Given the description of an element on the screen output the (x, y) to click on. 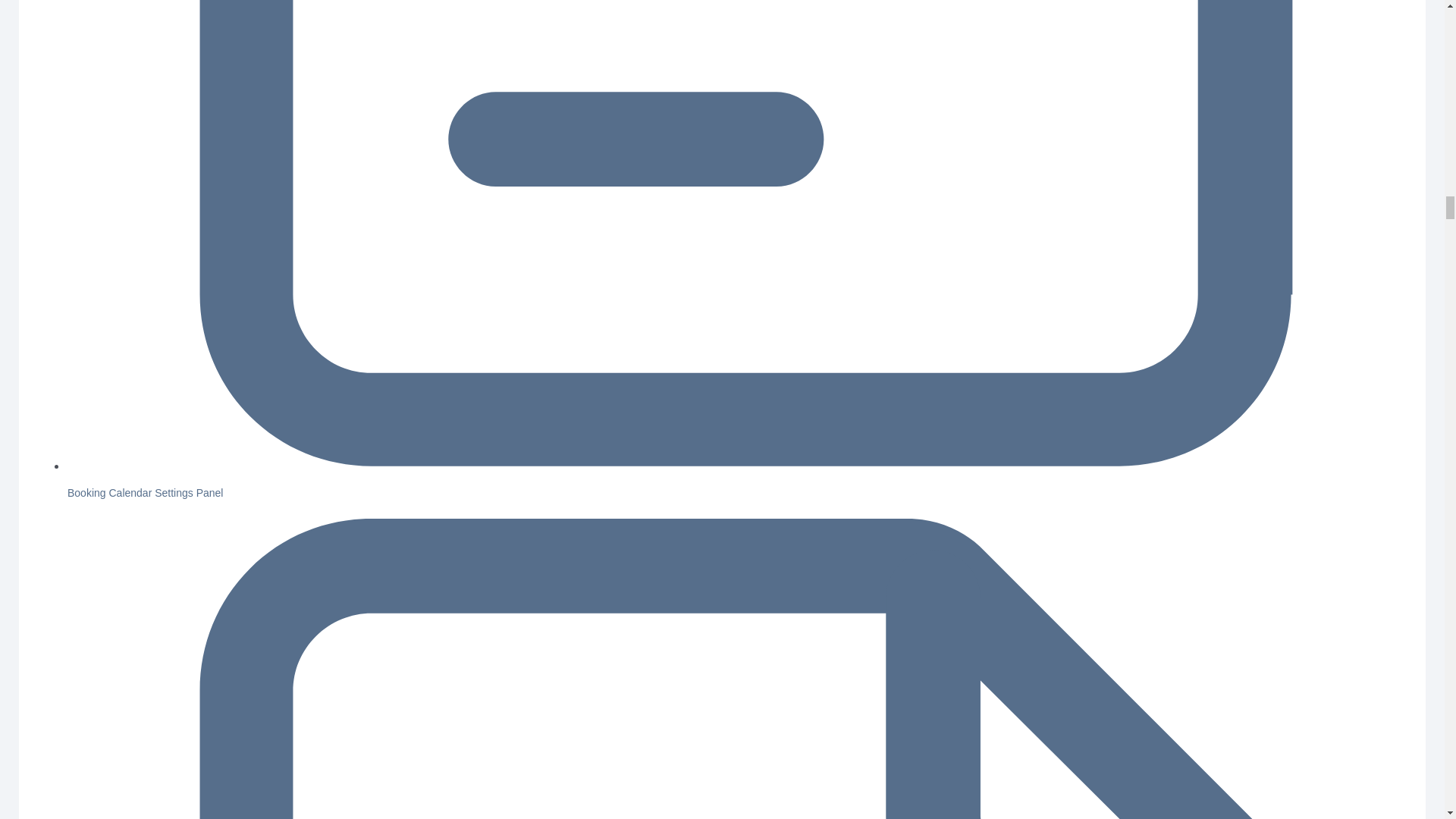
Booking Calendar Settings Panel (144, 492)
